Given the description of an element on the screen output the (x, y) to click on. 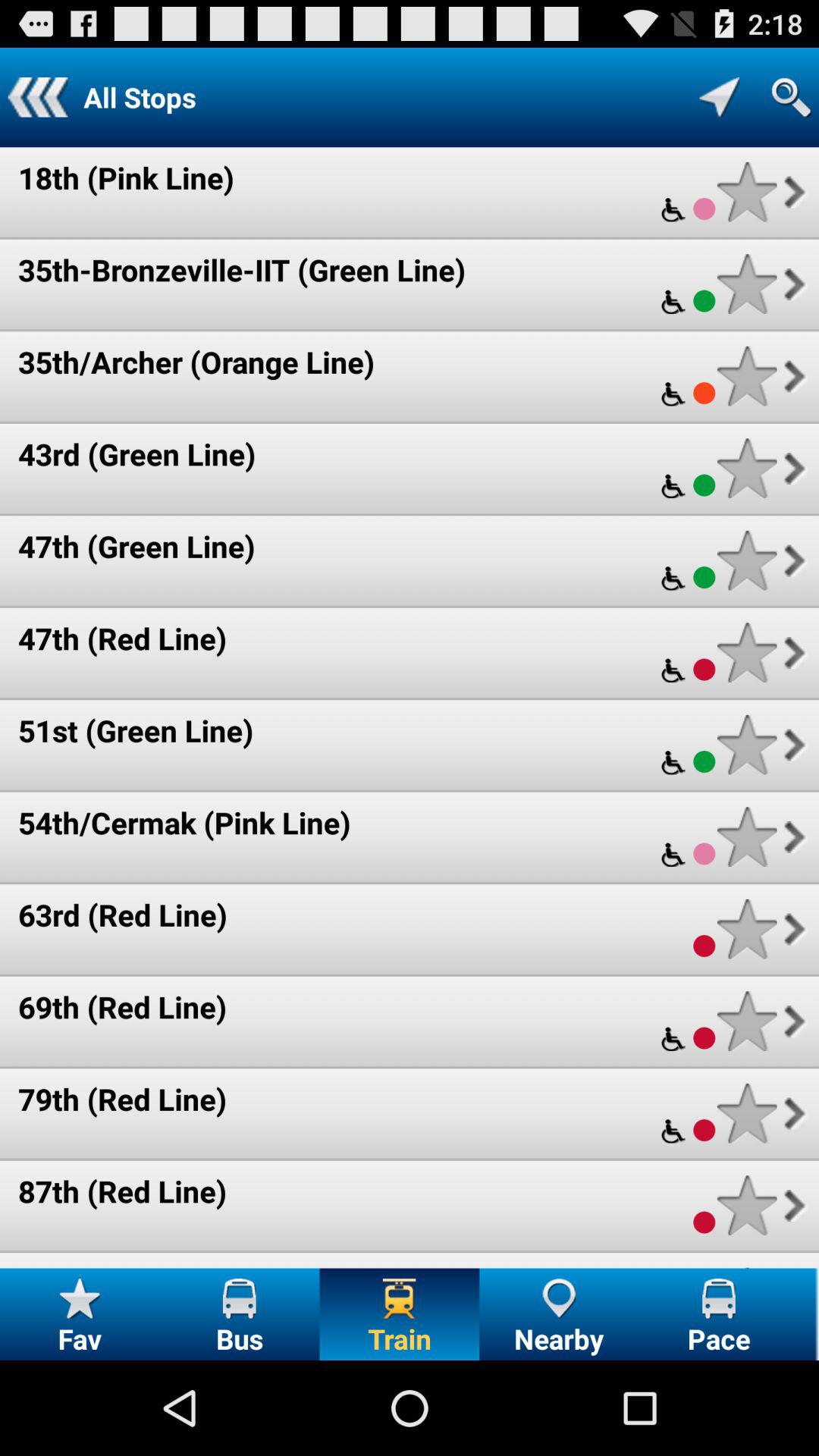
save train stop (746, 191)
